Given the description of an element on the screen output the (x, y) to click on. 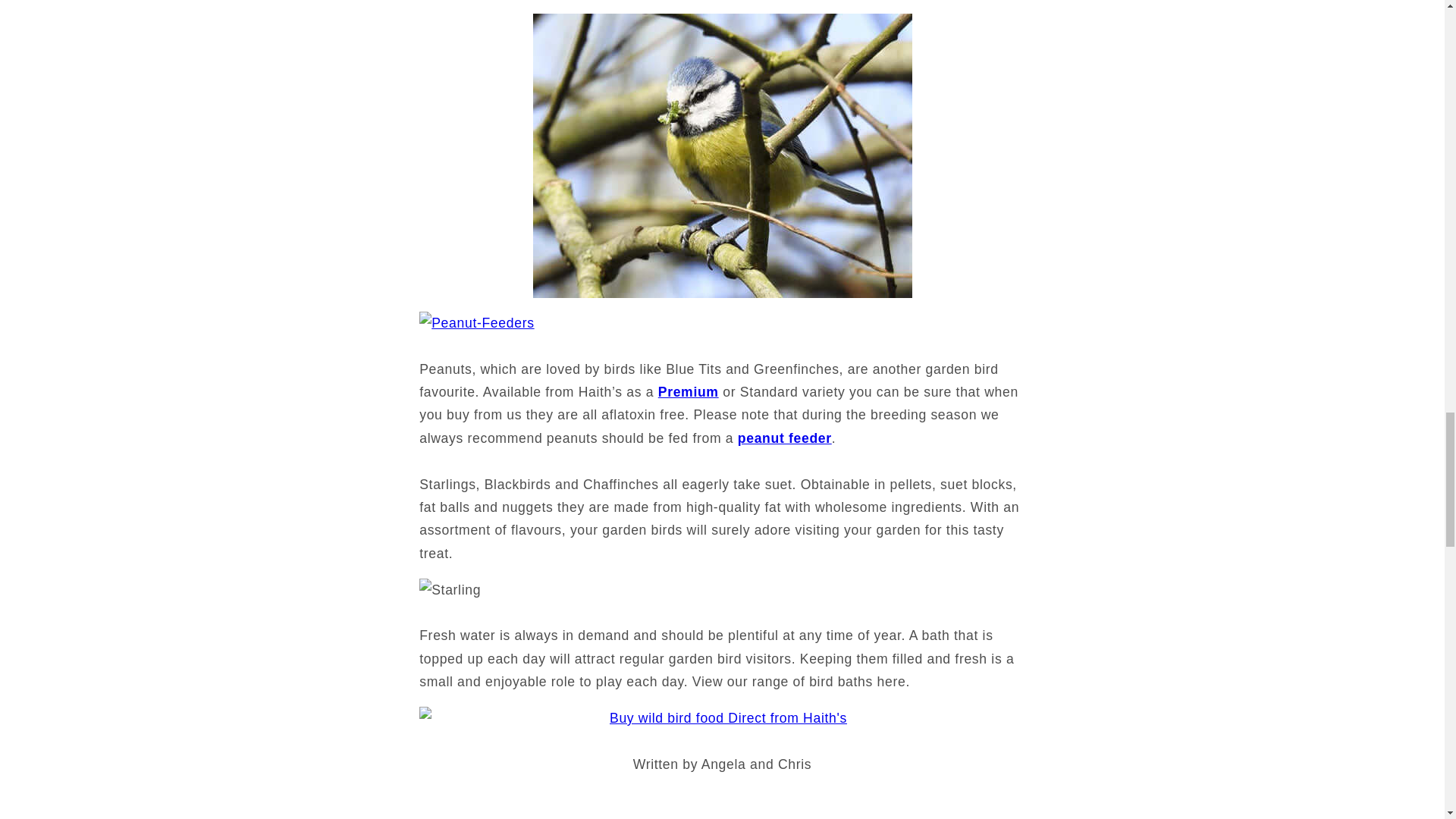
Buy wild bird food Direct from Haith's (722, 727)
Peanuts for garden birds (688, 391)
Buy Peanut Feeders for wild birds (784, 437)
Buy Peanut Feeders for wild birds (722, 332)
